Given the description of an element on the screen output the (x, y) to click on. 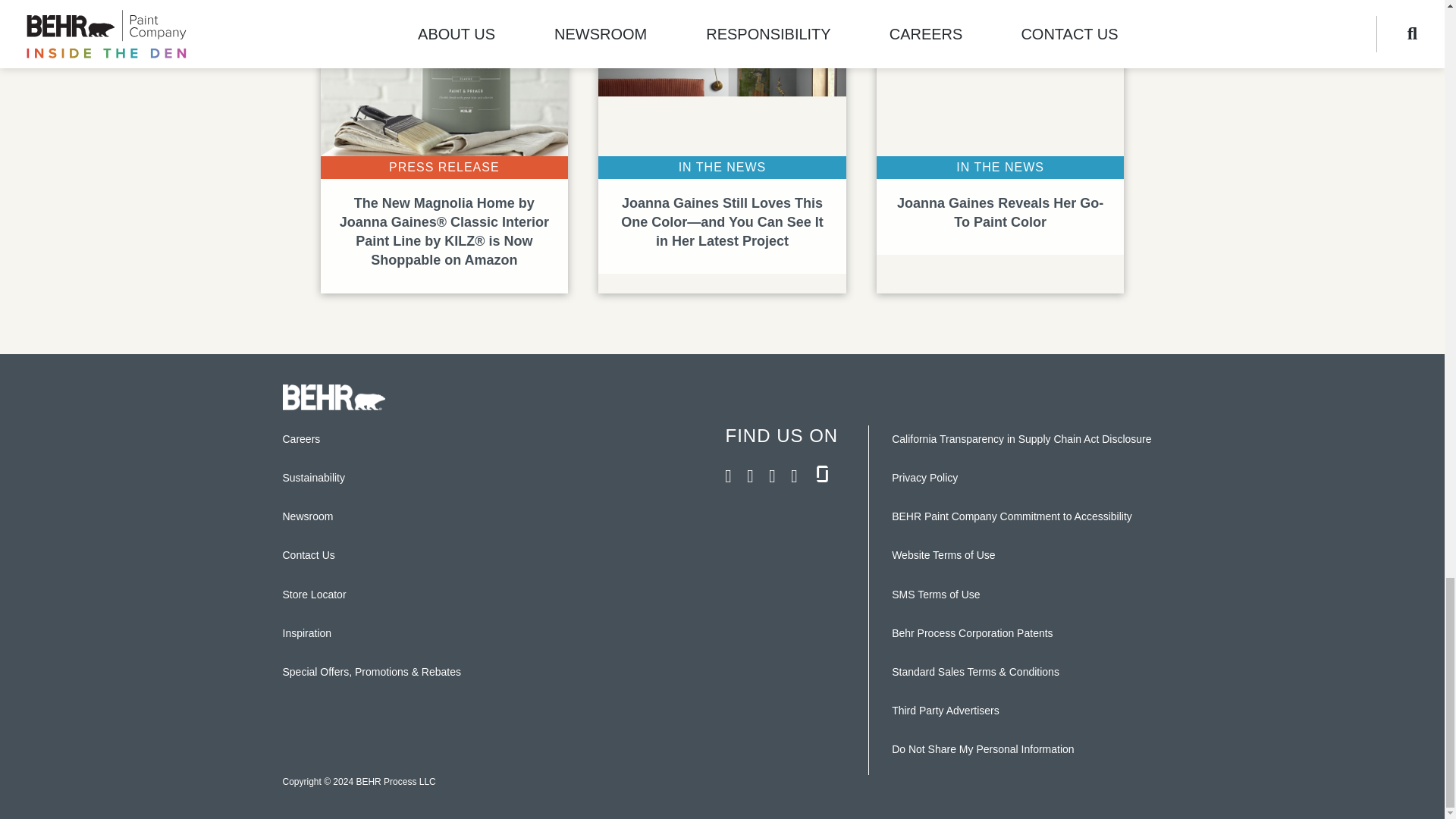
Inspiration (306, 633)
Store Locator (314, 594)
Sustainability (1000, 154)
Contact Us (313, 477)
Newsroom (308, 554)
Careers (307, 516)
